Given the description of an element on the screen output the (x, y) to click on. 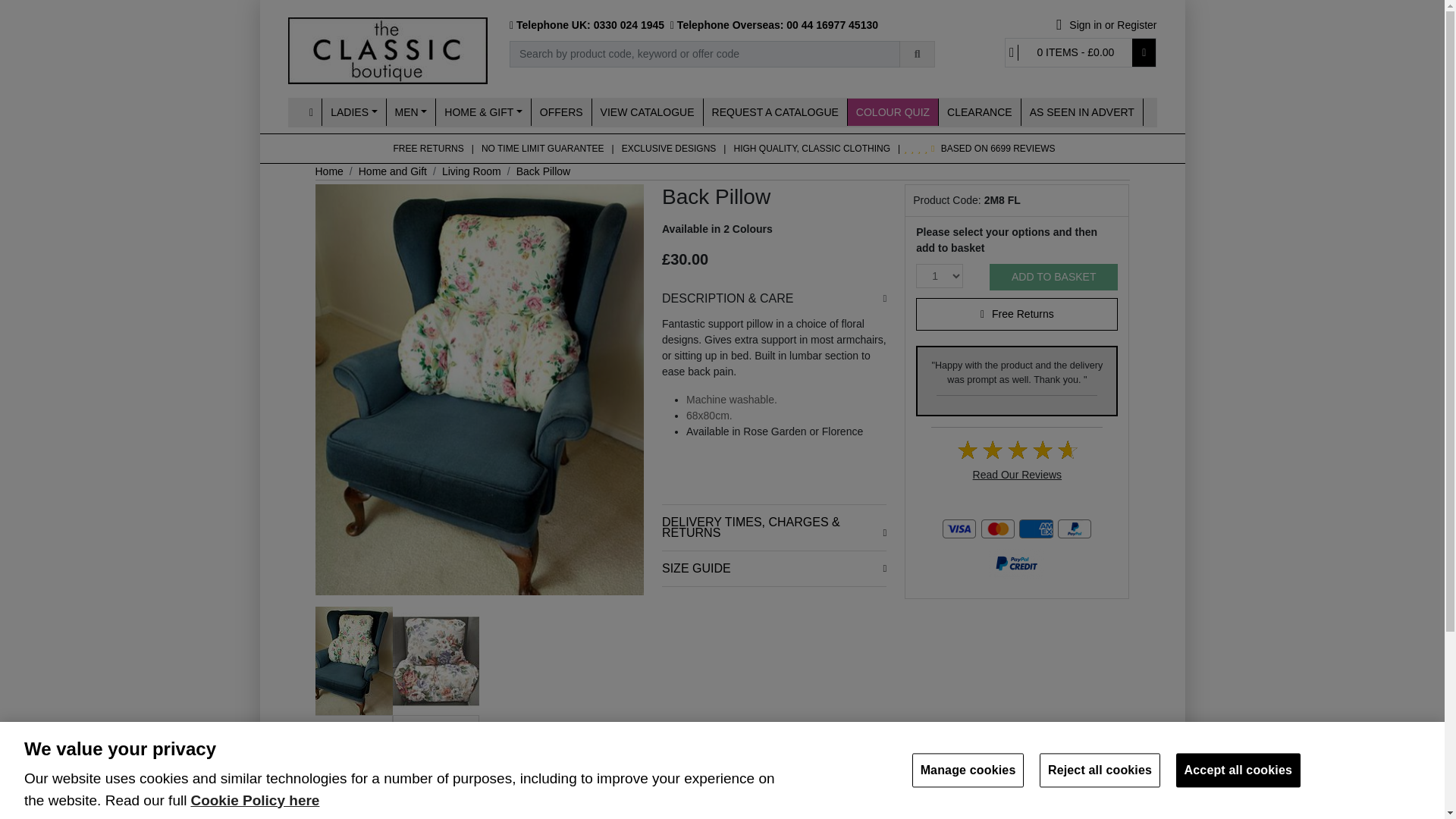
LADIES (353, 112)
Telephone UK: 0330 024 1945  (587, 24)
Telephone Overseas: 00 44 16977 45130  (774, 24)
Click here to see our Ladies range (353, 112)
Call Us on 0330 024 1945 (587, 24)
Sign in or Register (1106, 25)
MEN (411, 112)
